Given the description of an element on the screen output the (x, y) to click on. 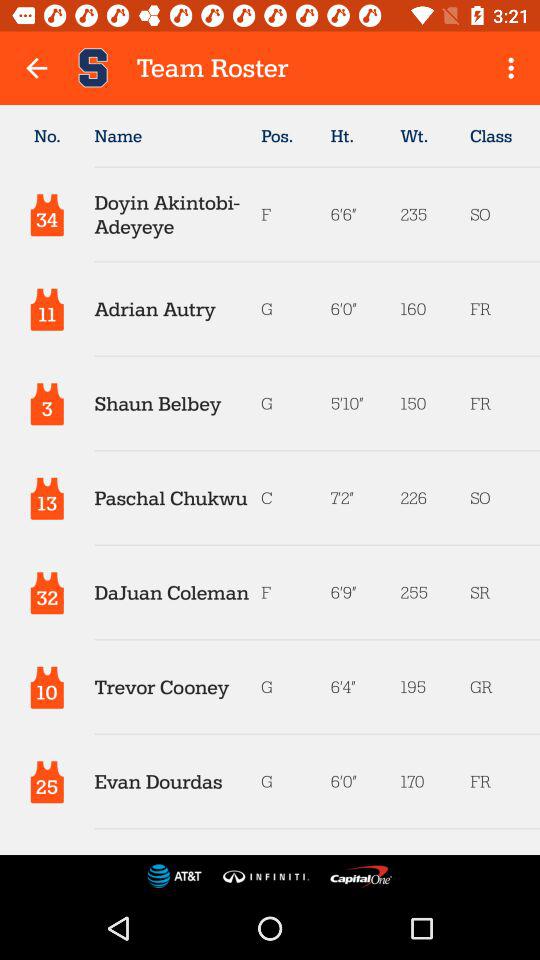
press icon above the class item (513, 67)
